Given the description of an element on the screen output the (x, y) to click on. 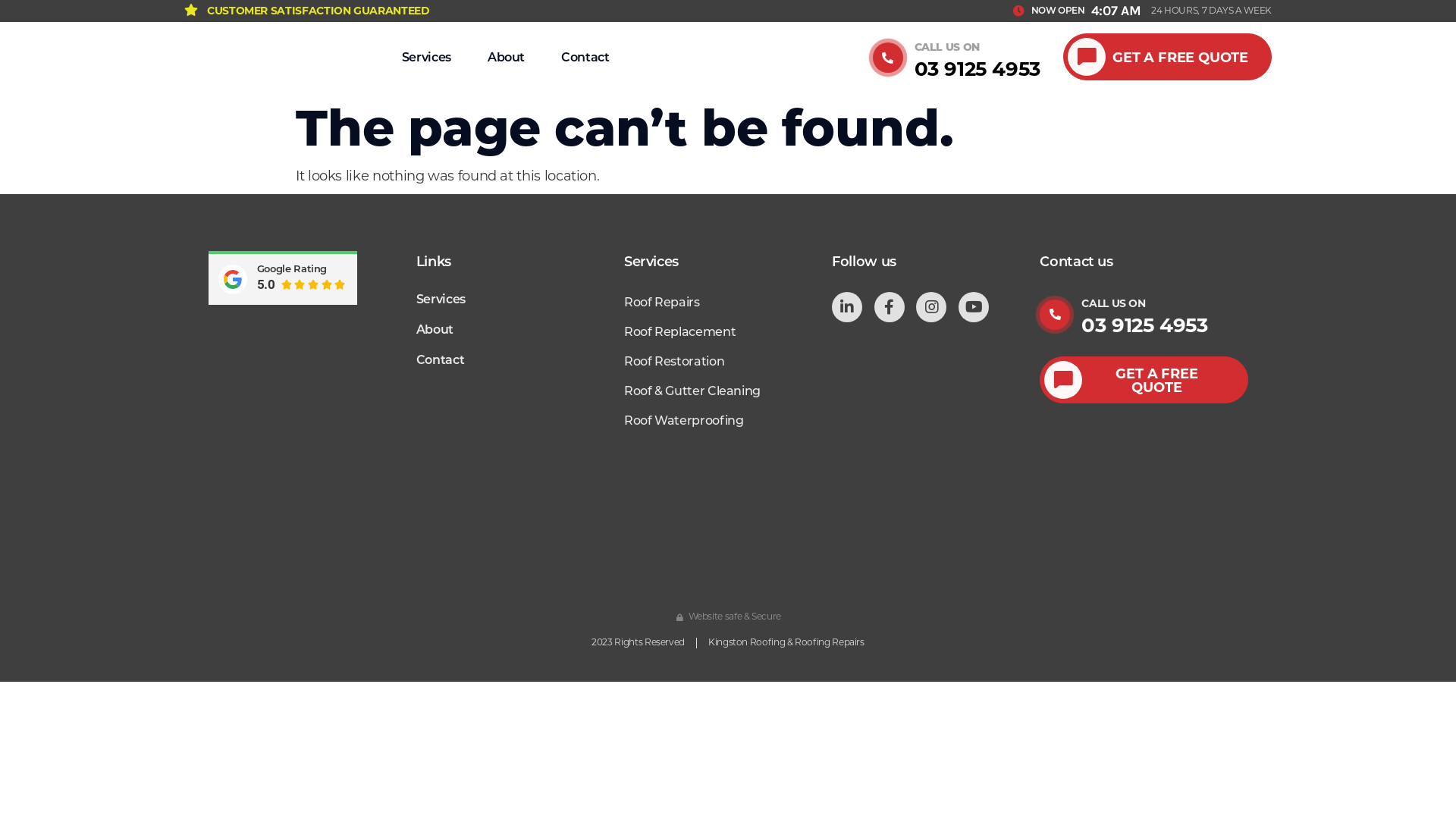
Roof Repairs Element type: text (727, 302)
Roof & Gutter Cleaning Element type: text (727, 391)
GET A FREE QUOTE Element type: text (1143, 379)
Contact Element type: text (520, 359)
Services Element type: text (426, 57)
About Element type: text (520, 329)
Roof Waterproofing Element type: text (727, 421)
Contact Element type: text (584, 57)
CALL US ON Element type: text (946, 46)
Services Element type: text (520, 299)
Roof Restoration Element type: text (727, 362)
CALL US ON Element type: text (1113, 303)
Roof Replacement Element type: text (727, 332)
About Element type: text (505, 57)
GET A FREE QUOTE Element type: text (1167, 56)
